Given the description of an element on the screen output the (x, y) to click on. 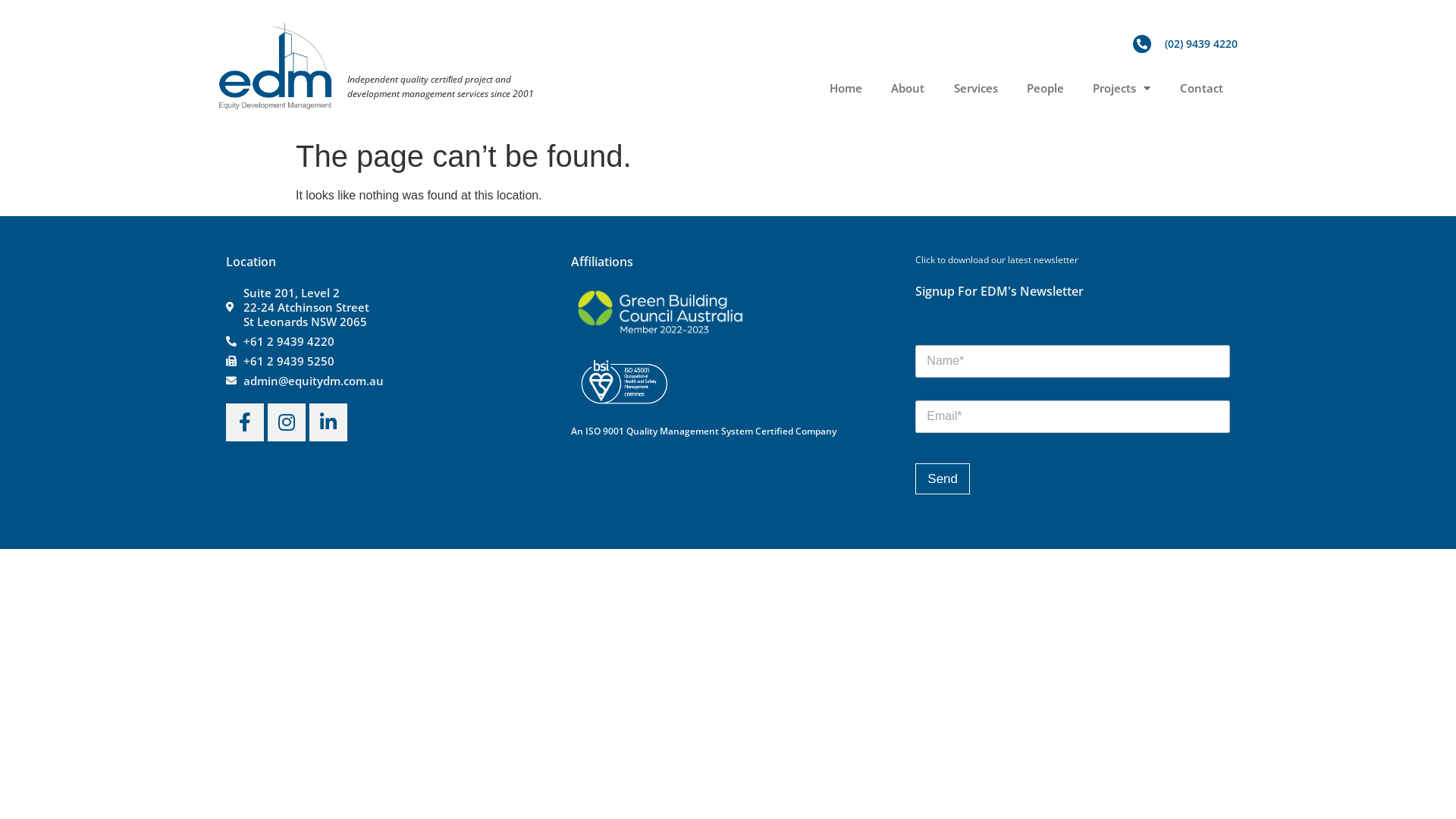
(02) 9439 4220 Element type: text (1185, 43)
Home Element type: text (845, 87)
Services Element type: text (974, 87)
People Element type: text (1045, 87)
About Element type: text (907, 87)
Contact Element type: text (1201, 87)
Send Element type: text (942, 478)
admin@equitydm.com.au Element type: text (382, 380)
+61 2 9439 4220 Element type: text (382, 341)
Click to download our latest newsletter Element type: text (996, 259)
Projects Element type: text (1121, 87)
